Given the description of an element on the screen output the (x, y) to click on. 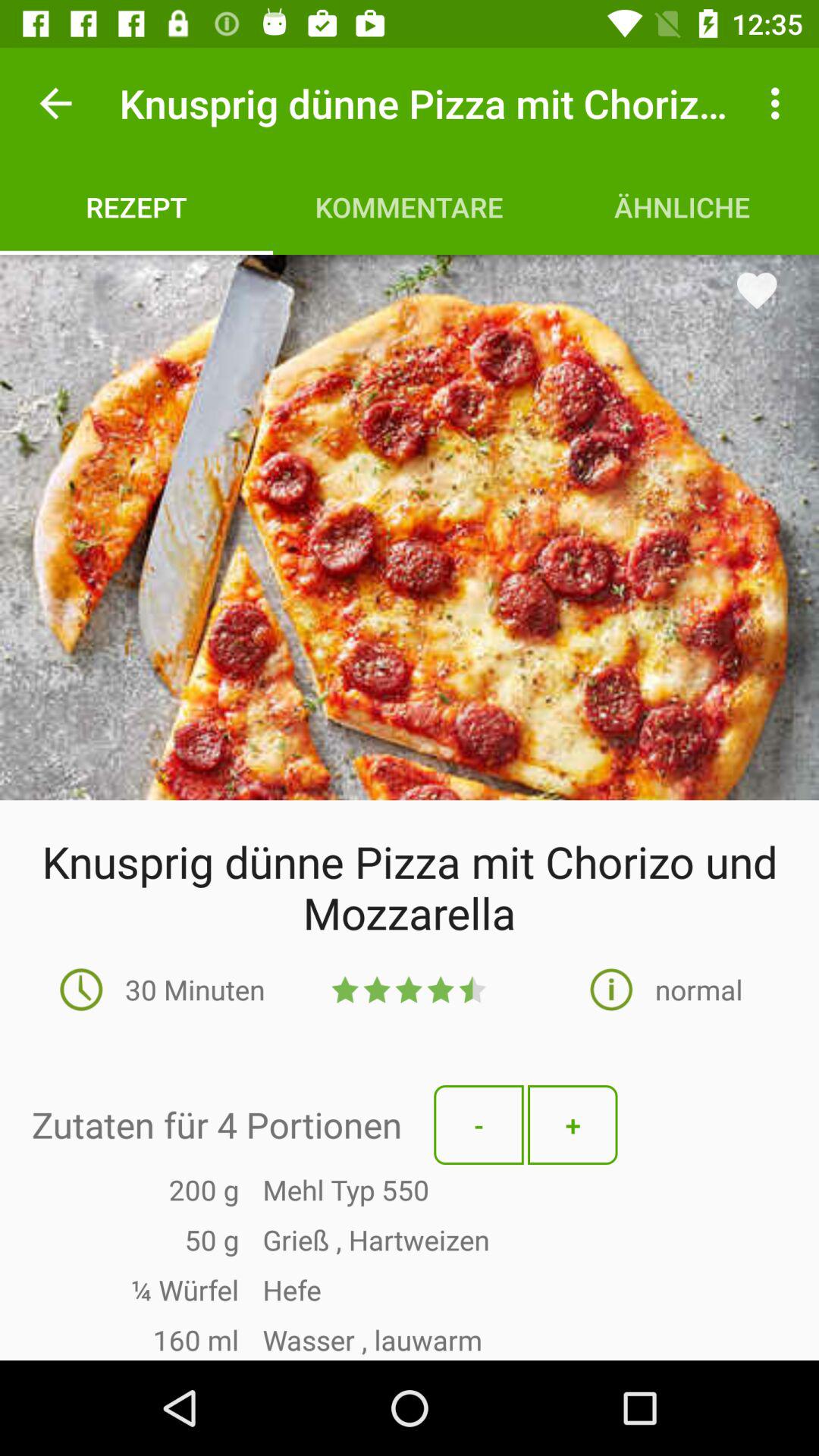
launch + icon (572, 1124)
